Given the description of an element on the screen output the (x, y) to click on. 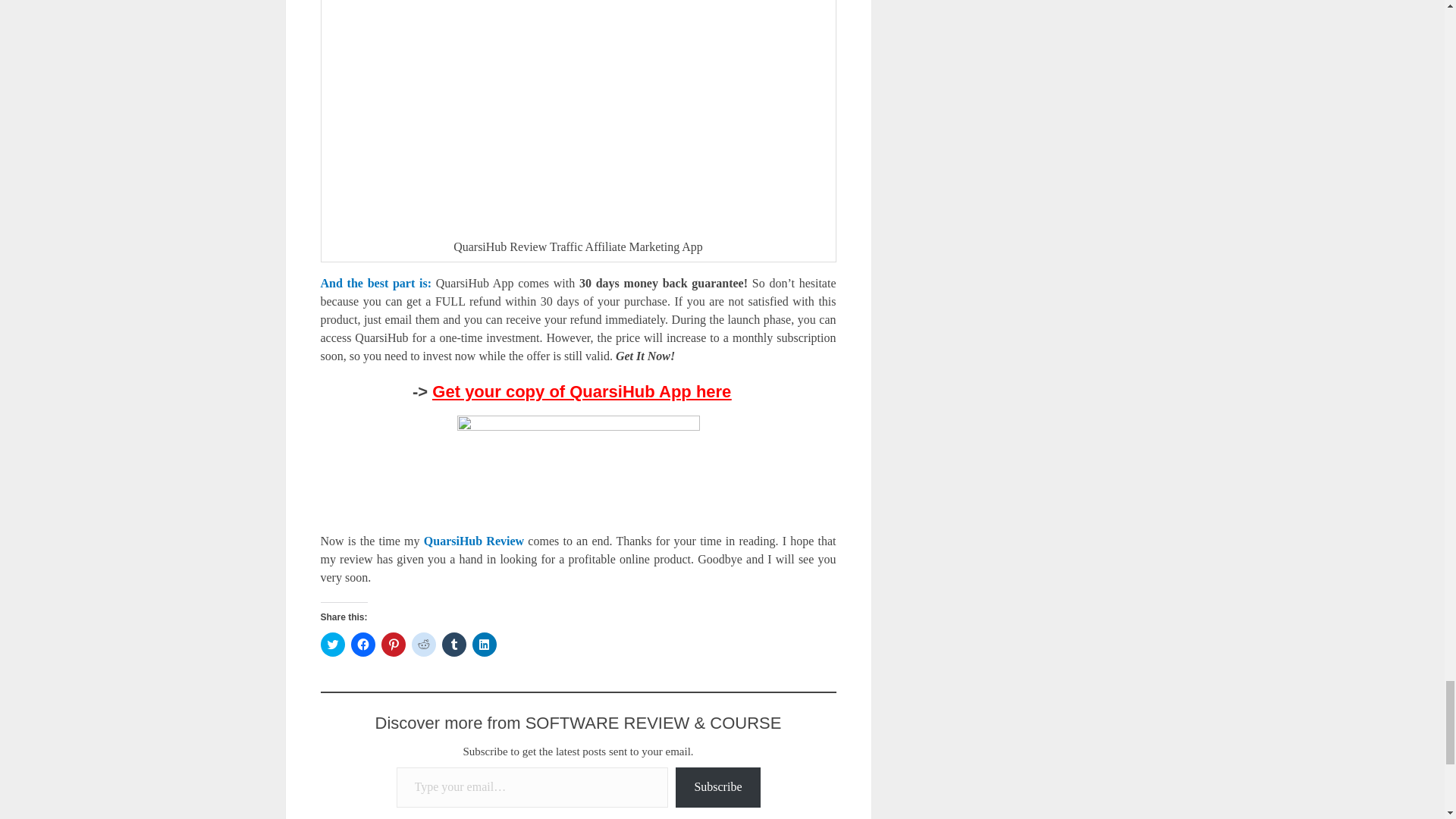
Click to share on Twitter (331, 644)
QuarsiHub Review (475, 540)
Get your copy of QuarsiHub App here (588, 391)
